Given the description of an element on the screen output the (x, y) to click on. 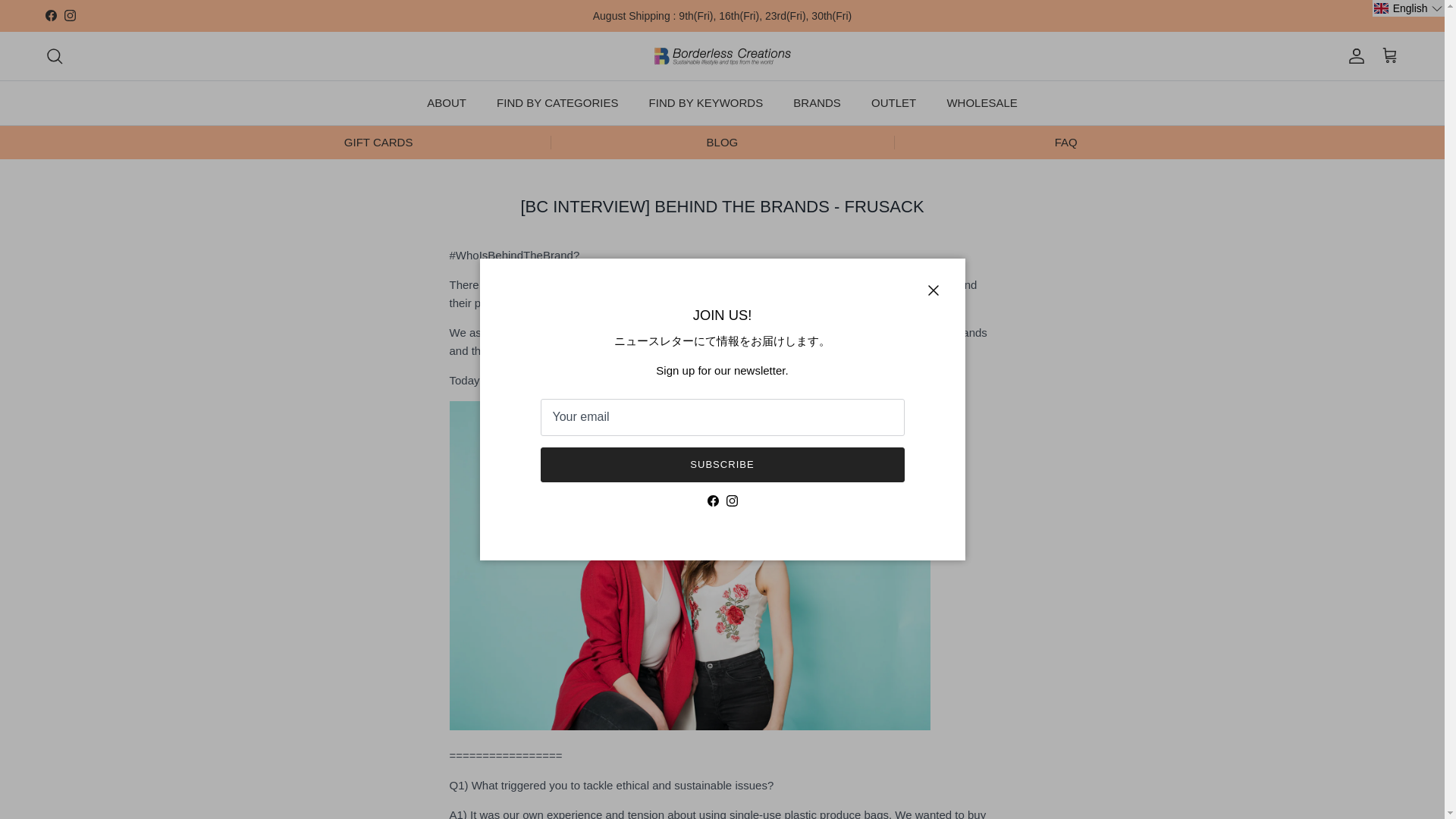
BRANDS (816, 103)
Borderless Creations on Instagram (732, 500)
Borderless Creations on Instagram (69, 15)
FIND BY KEYWORDS (705, 103)
FIND BY CATEGORIES (557, 103)
Account (1352, 55)
Borderless Creations on Facebook (50, 15)
WHOLESALE (981, 103)
Borderless Creations on Facebook (711, 500)
Instagram (69, 15)
OUTLET (893, 103)
Facebook (50, 15)
Cart (1389, 55)
Borderless Creations (721, 55)
Search (54, 55)
